Given the description of an element on the screen output the (x, y) to click on. 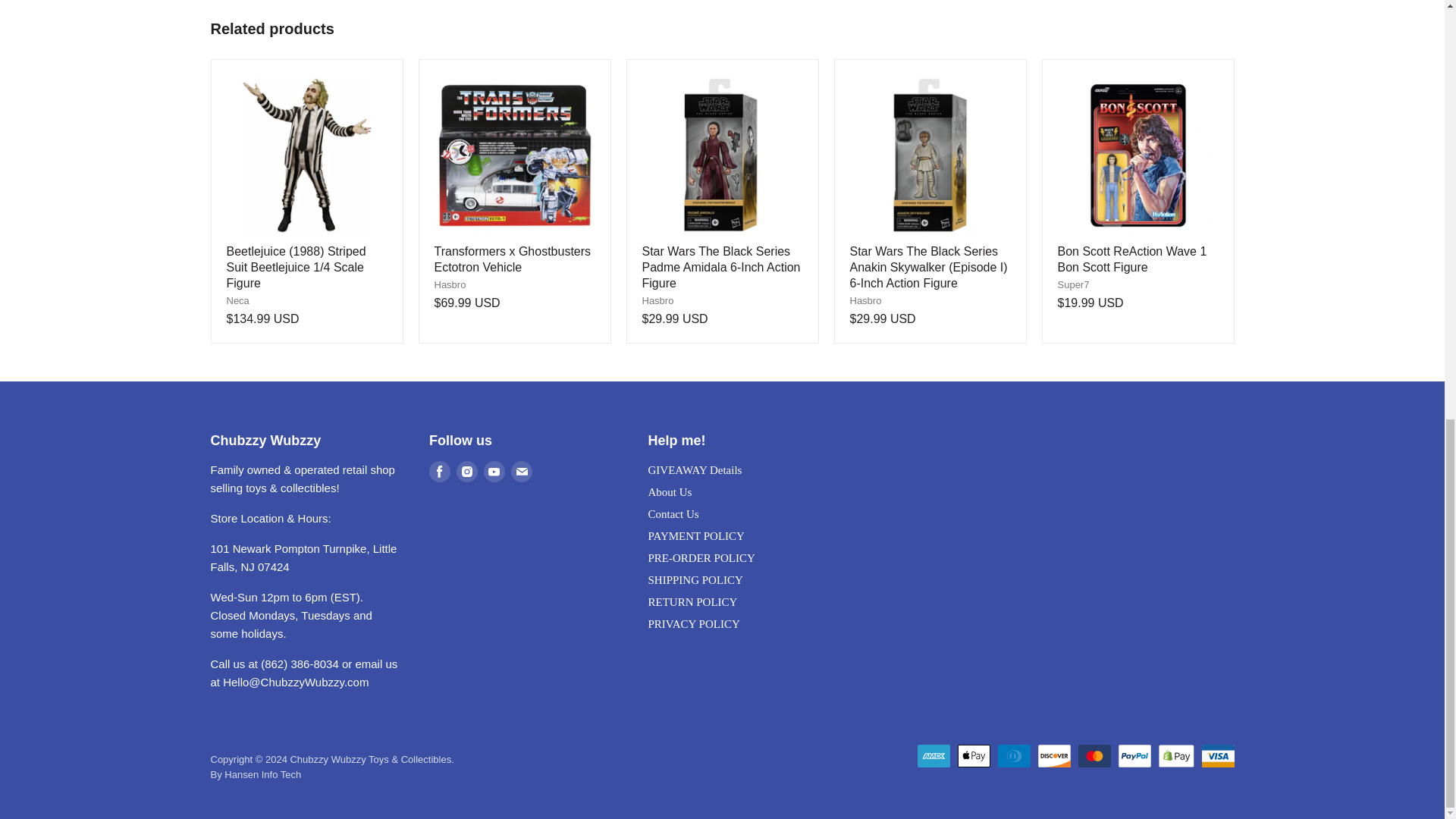
Instagram (466, 470)
Youtube (494, 470)
E-mail (521, 470)
Facebook (439, 470)
